Given the description of an element on the screen output the (x, y) to click on. 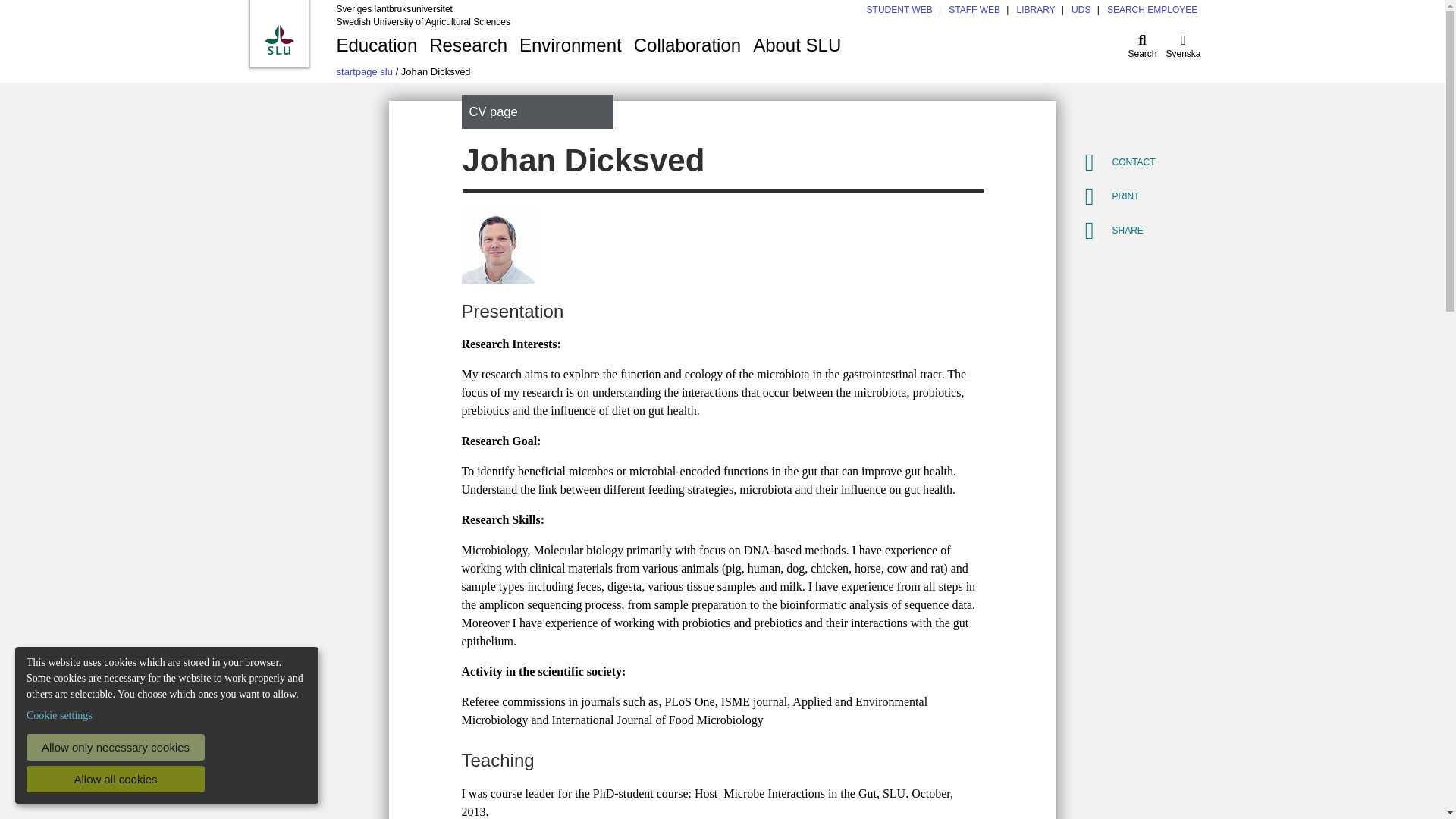
LIBRARY (1035, 9)
UDS (1080, 9)
STUDENT WEB (899, 9)
Education (376, 45)
STAFF WEB (974, 9)
SEARCH EMPLOYEE (1151, 9)
Allow all cookies (115, 778)
Cookie settings (59, 715)
Allow only necessary cookies (115, 746)
Swedish University of Agricultural Sciences logo (278, 39)
